Given the description of an element on the screen output the (x, y) to click on. 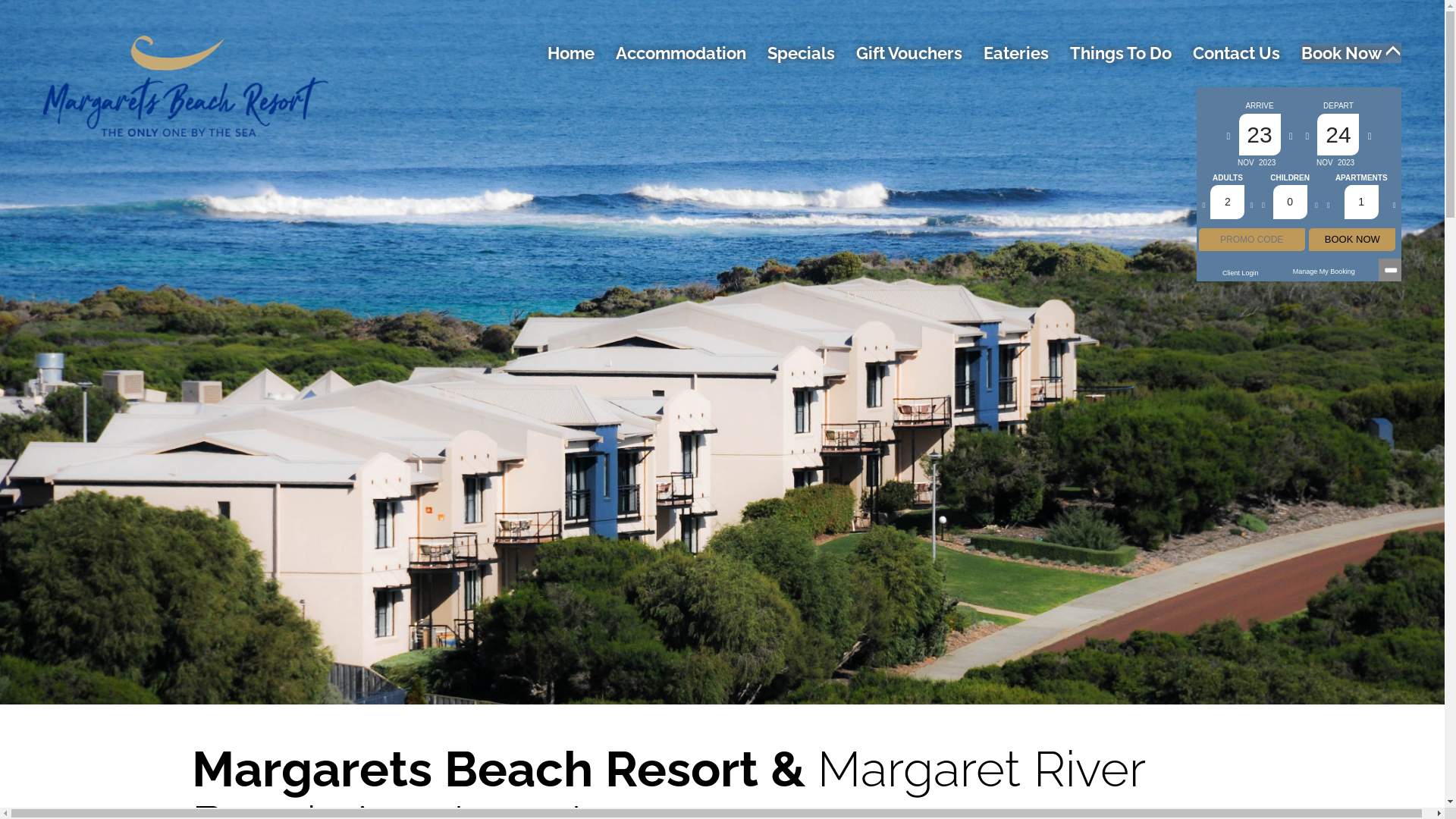
Things To Do Element type: text (1120, 52)
Book Now Element type: text (1351, 52)
Home Element type: text (570, 52)
Eateries Element type: text (1015, 52)
Manage My Booking Element type: text (1323, 271)
Contact Us Element type: text (1236, 52)
BOOK NOW Element type: text (1351, 239)
Client Login Element type: text (1240, 272)
Gift Vouchers Element type: text (909, 52)
Accommodation Element type: text (680, 52)
Specials Element type: text (800, 52)
